Given the description of an element on the screen output the (x, y) to click on. 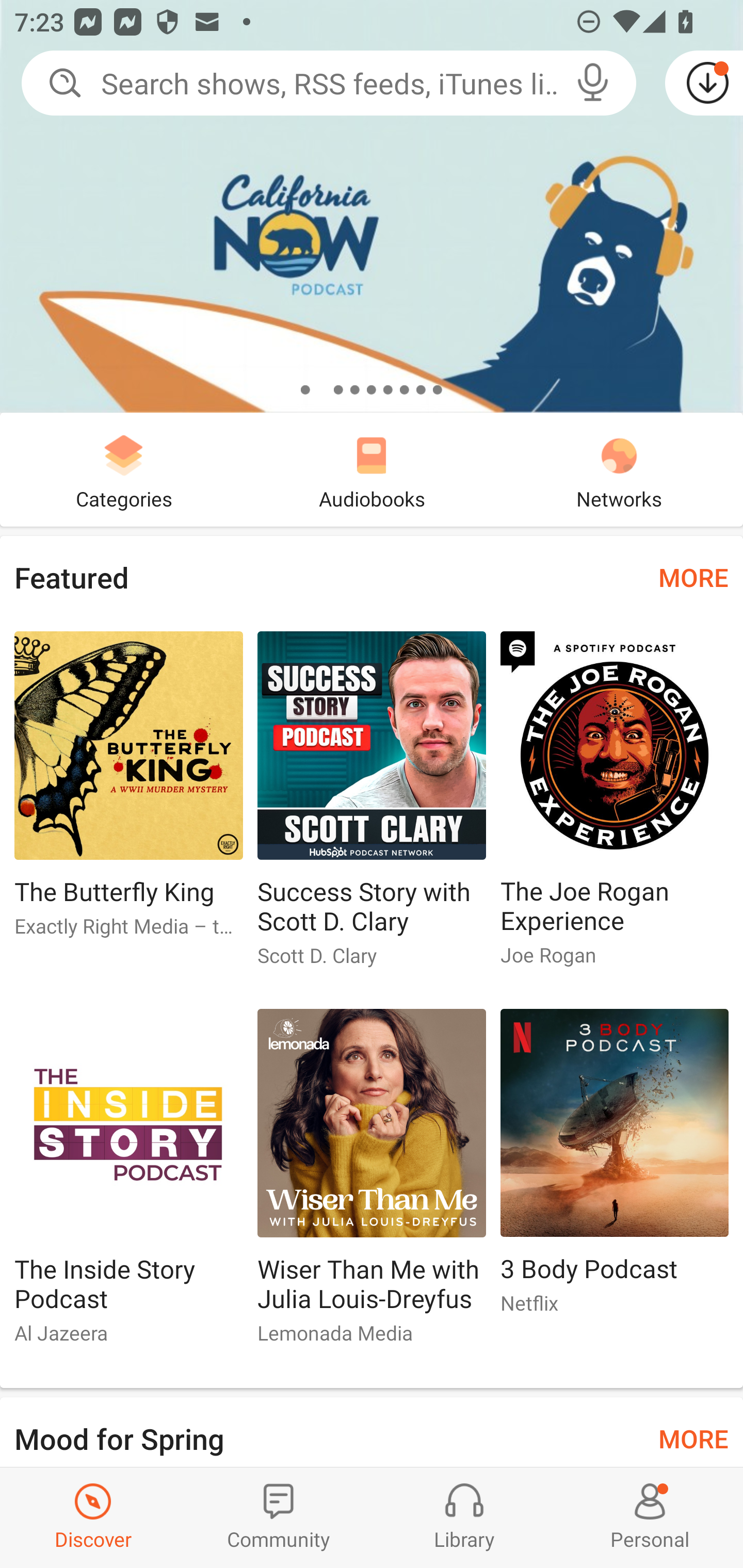
California Now Podcast (371, 206)
Categories (123, 469)
Audiobooks (371, 469)
Networks (619, 469)
MORE (693, 576)
3 Body Podcast 3 Body Podcast Netflix (614, 1169)
MORE (693, 1436)
Discover (92, 1517)
Community (278, 1517)
Library (464, 1517)
Profiles and Settings Personal (650, 1517)
